Given the description of an element on the screen output the (x, y) to click on. 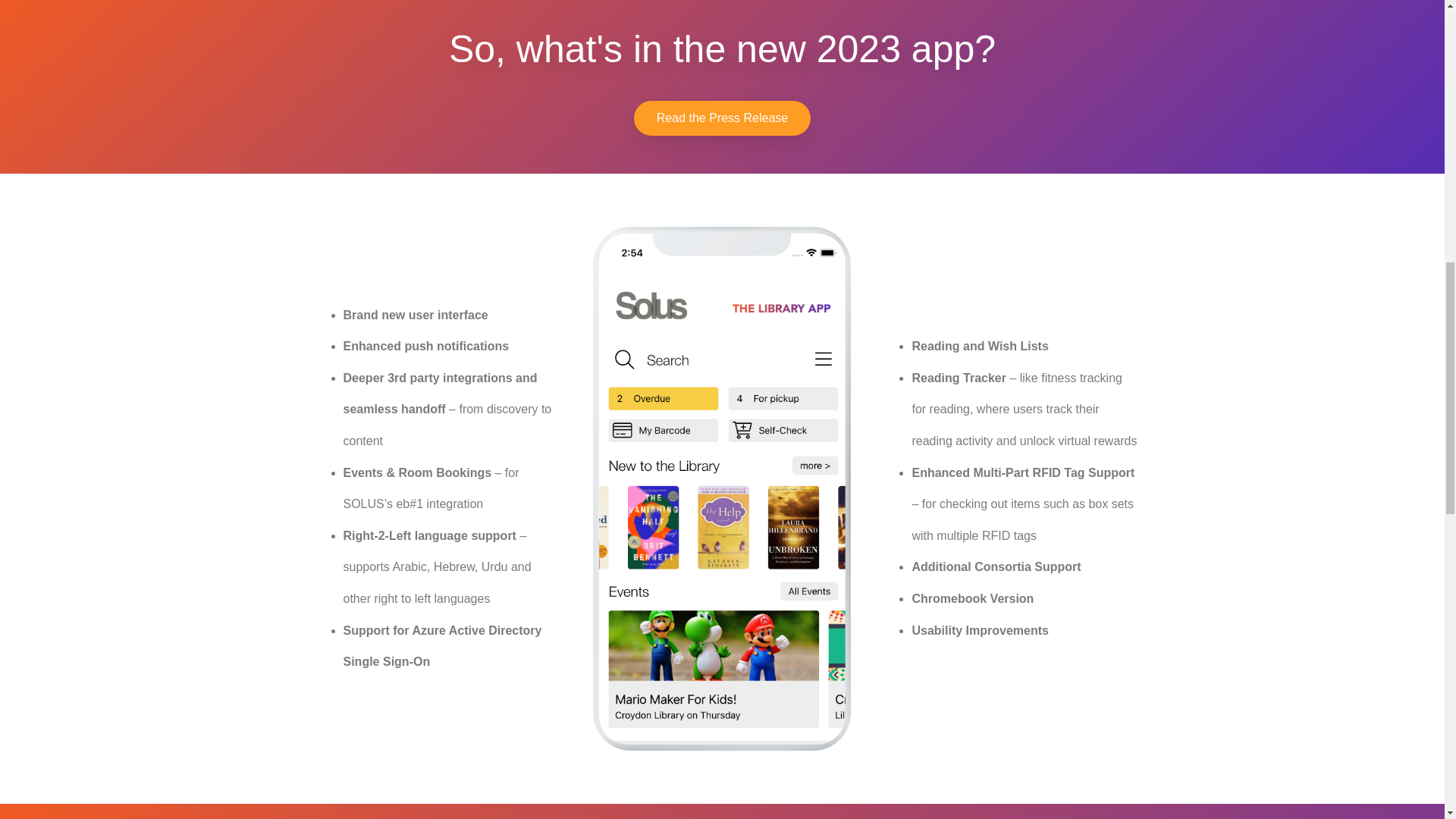
Read the Press Release (721, 117)
